Given the description of an element on the screen output the (x, y) to click on. 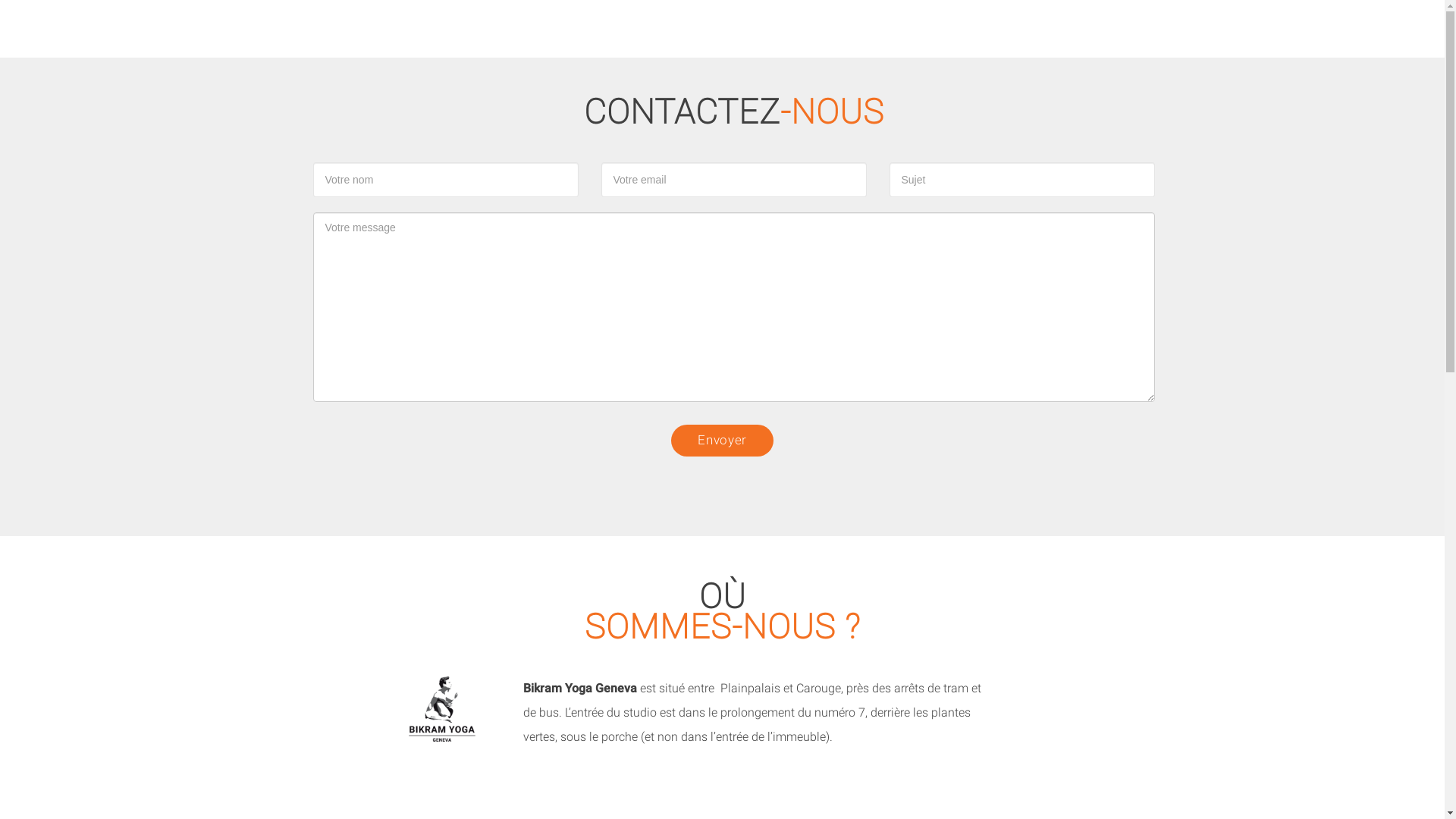
Envoyer Element type: text (722, 440)
